Given the description of an element on the screen output the (x, y) to click on. 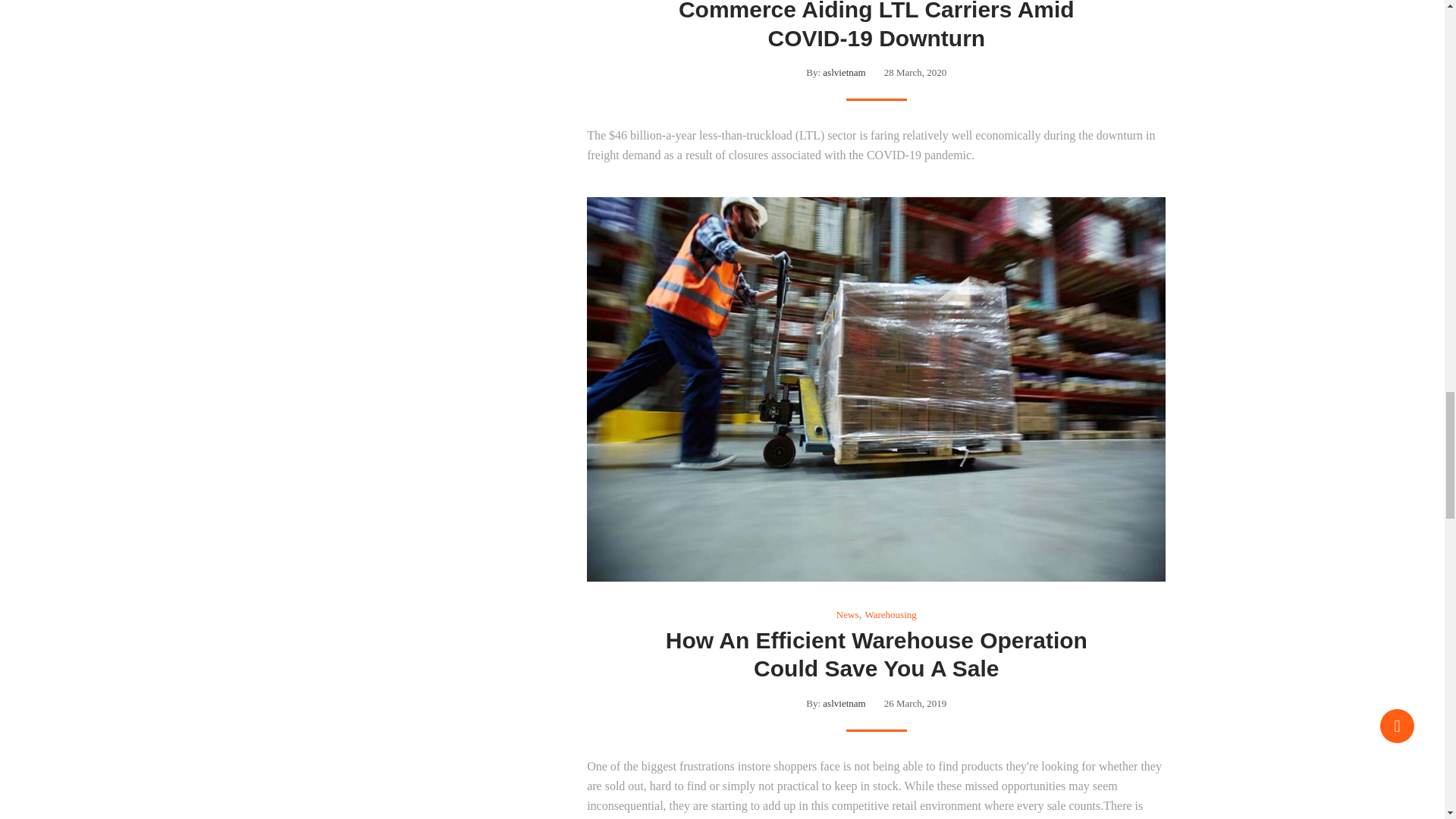
Posts by aslvietnam (843, 703)
Posts by aslvietnam (843, 71)
